Given the description of an element on the screen output the (x, y) to click on. 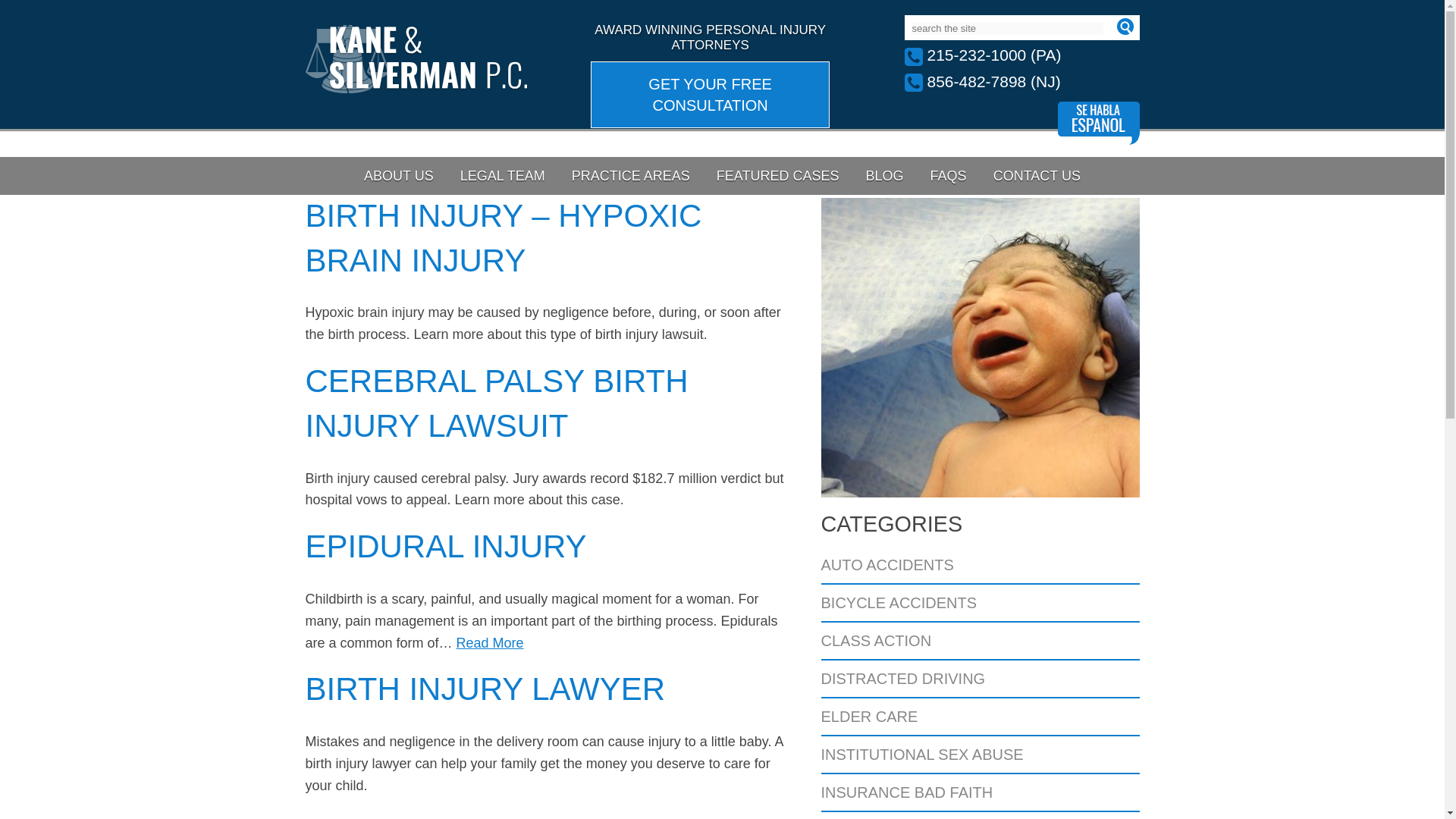
GET YOUR FREE CONSULTATION (710, 94)
search the site: (1006, 28)
Search (1124, 26)
ABOUT US (398, 175)
PRACTICE AREAS (630, 175)
LEGAL TEAM (502, 175)
Search (1124, 26)
Search (1124, 26)
